Given the description of an element on the screen output the (x, y) to click on. 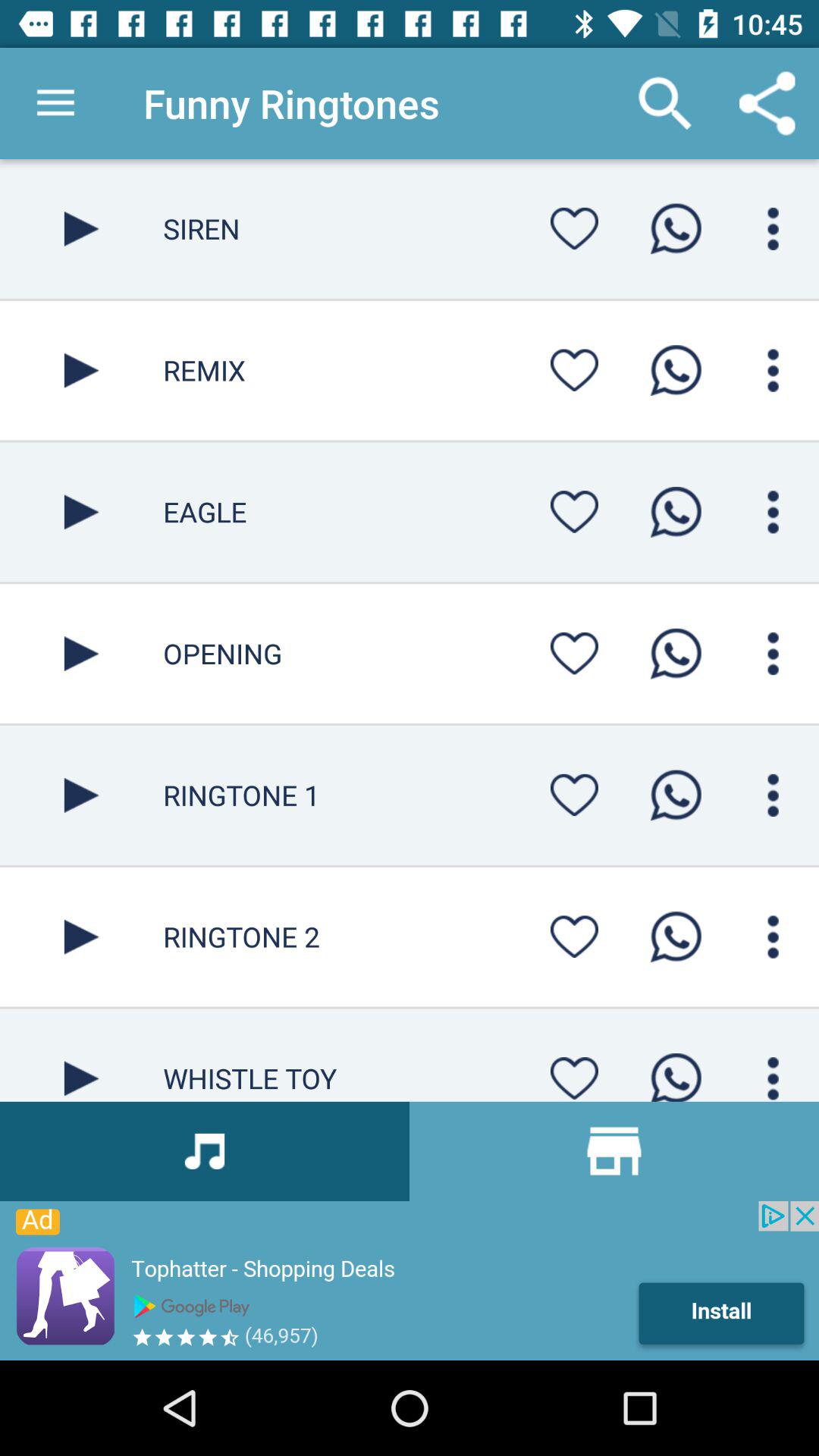
phone button (675, 370)
